Given the description of an element on the screen output the (x, y) to click on. 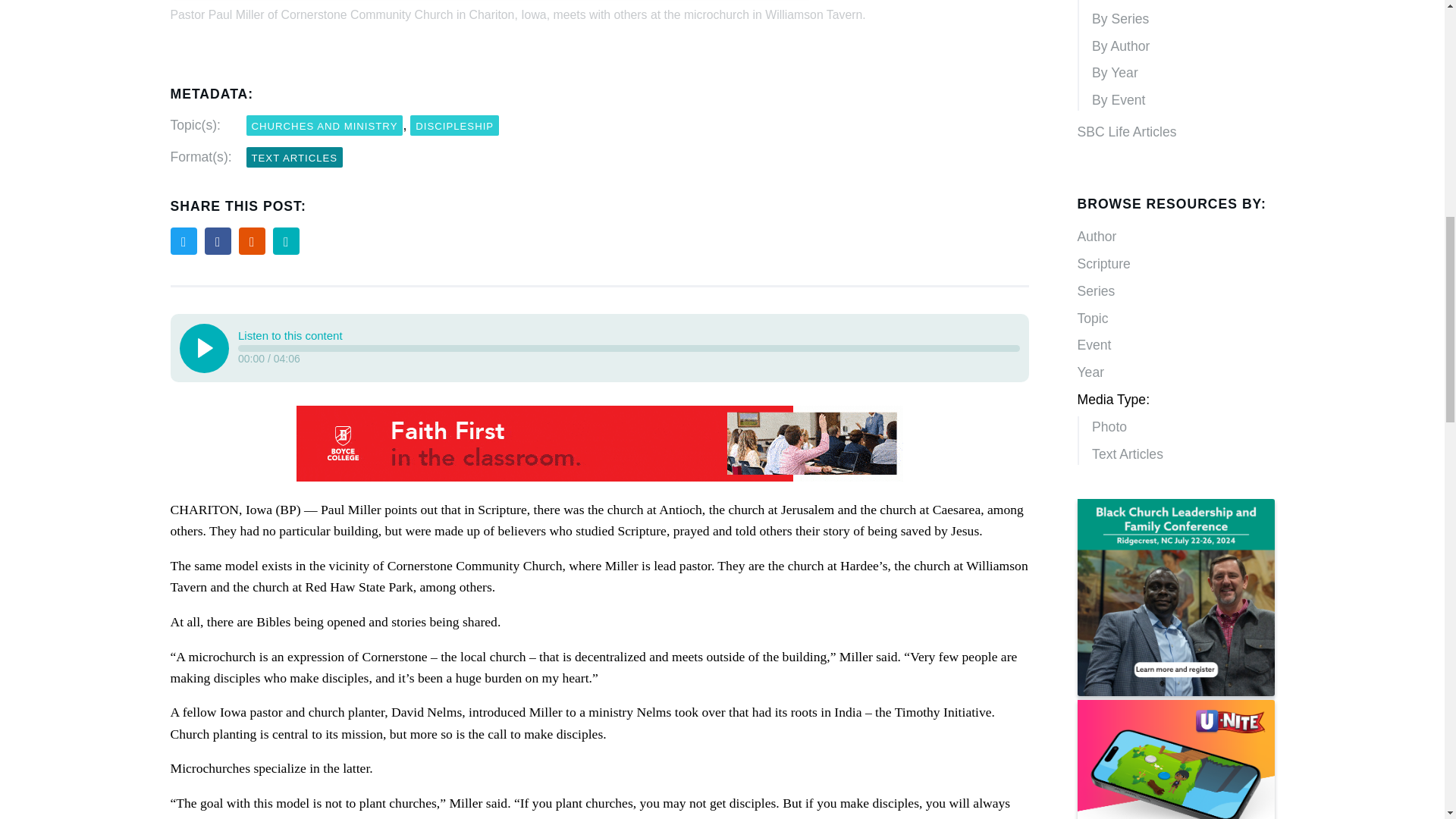
TEXT ARTICLES (294, 157)
CHURCHES AND MINISTRY (324, 125)
DISCIPLESHIP (454, 125)
